Given the description of an element on the screen output the (x, y) to click on. 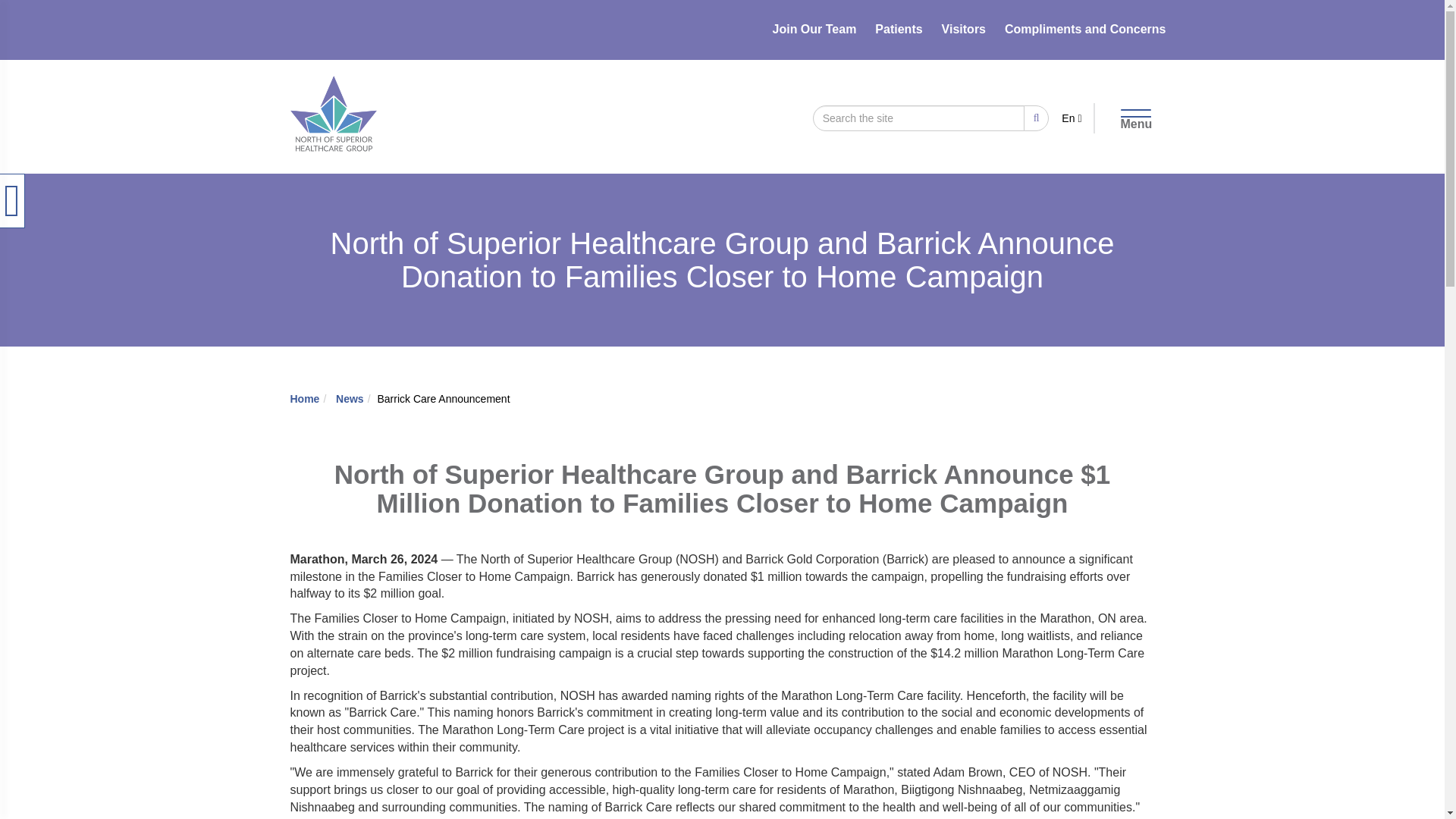
North of Superior Healthcare Group (332, 95)
Visitors (963, 29)
Menu (1131, 116)
Compliments and Concerns (1085, 29)
Join Our Team (815, 29)
Patients (898, 29)
